Given the description of an element on the screen output the (x, y) to click on. 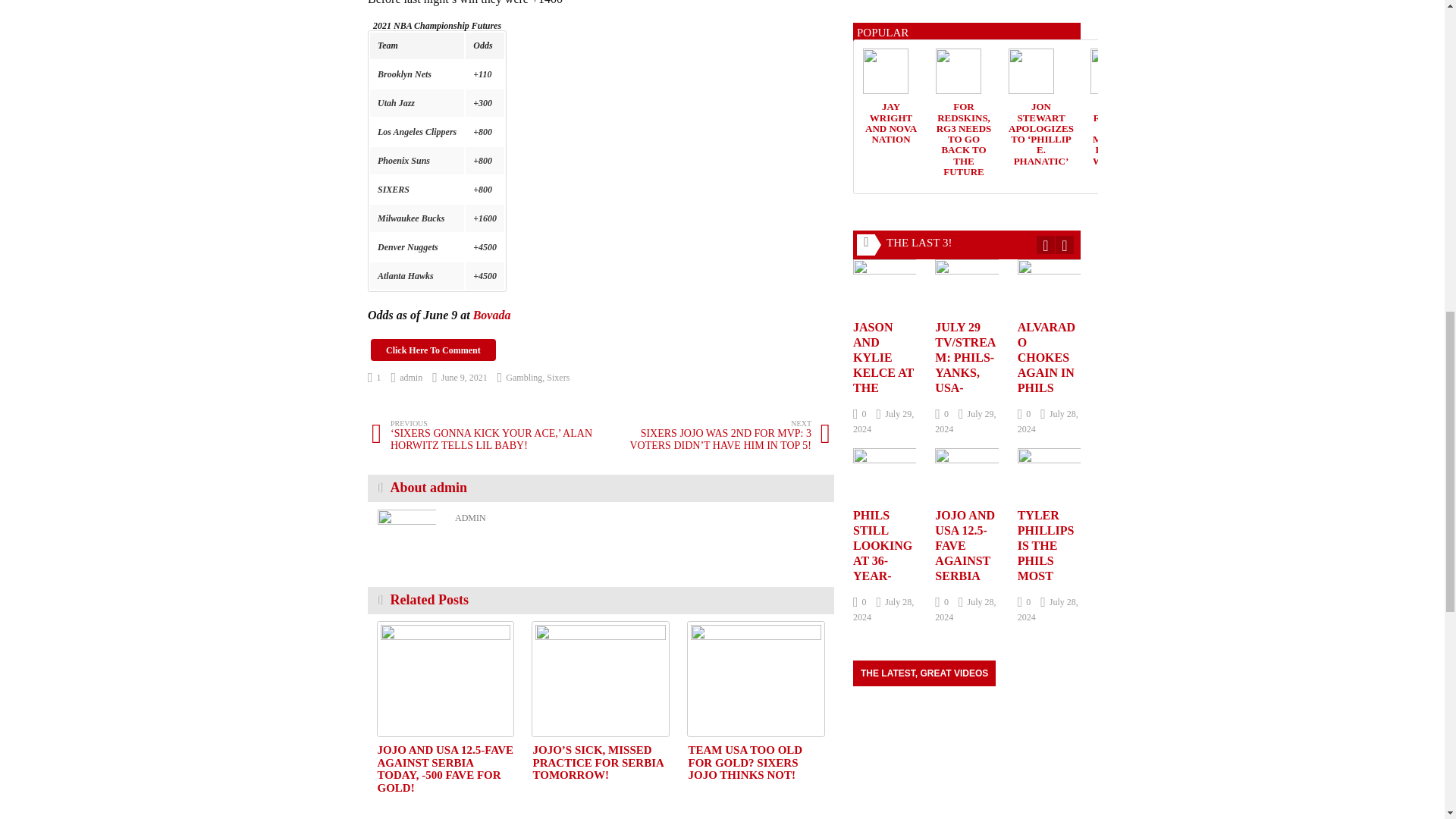
ADMIN (470, 517)
Click Here To Comment (433, 350)
TEAM USA TOO OLD FOR GOLD? SIXERS JOJO THINKS NOT! (755, 678)
1 (374, 377)
June 9, 2021 (459, 377)
Gambling (523, 377)
admin (407, 377)
Bovada (492, 314)
Sixers (558, 377)
Posts by admin (407, 377)
